Given the description of an element on the screen output the (x, y) to click on. 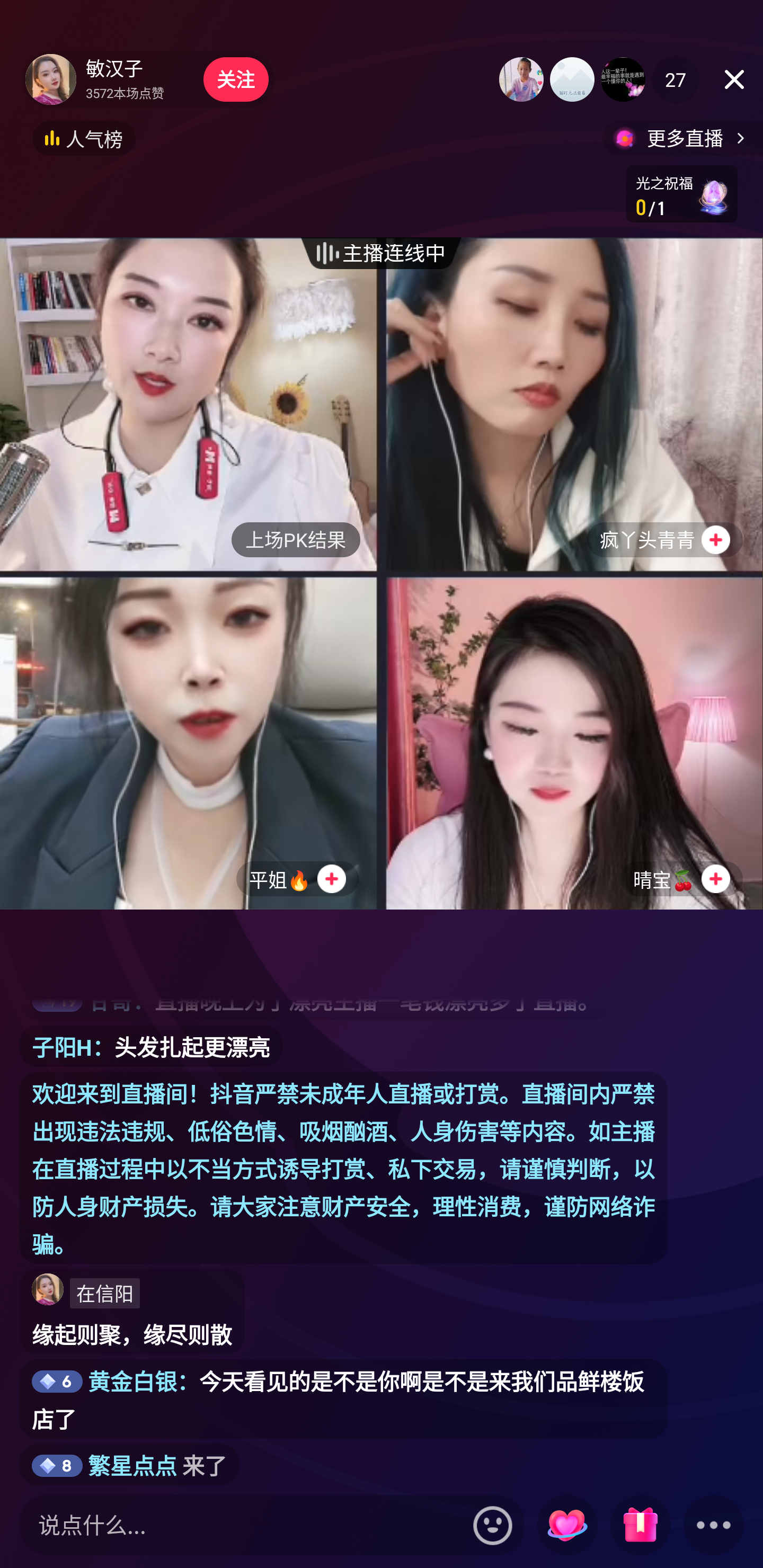
榜一 用户8060435961641 (521, 78)
榜二 浪子哥＜887＞ (572, 78)
榜三 34号 (623, 78)
主播敏汉子 3572本场点赞  敏汉子 3572本场点赞 关注 (148, 79)
27 27在线观众 (675, 78)
关注 (235, 78)
关闭 (733, 78)
人气榜，按钮 (83, 137)
更多直播 (682, 137)
心愿单 SaaS任务Banner 心愿单- (681, 193)
疯丫头青青 (572, 403)
上场PK结果 (295, 539)
平姐🔥 (188, 743)
晴宝🍒 (572, 743)
子阳H：头发扎起更漂亮 (151, 1045)
* 黄金白银：今天看见的是不是你啊是不是来我们品鲜楼饭店了 (343, 1399)
* 繁星点点 来了 (129, 1464)
说点什么... (241, 1524)
表情入口 (492, 1524)
小心心 (567, 1526)
礼物 (640, 1526)
更多面板 按钮 (713, 1526)
